Given the description of an element on the screen output the (x, y) to click on. 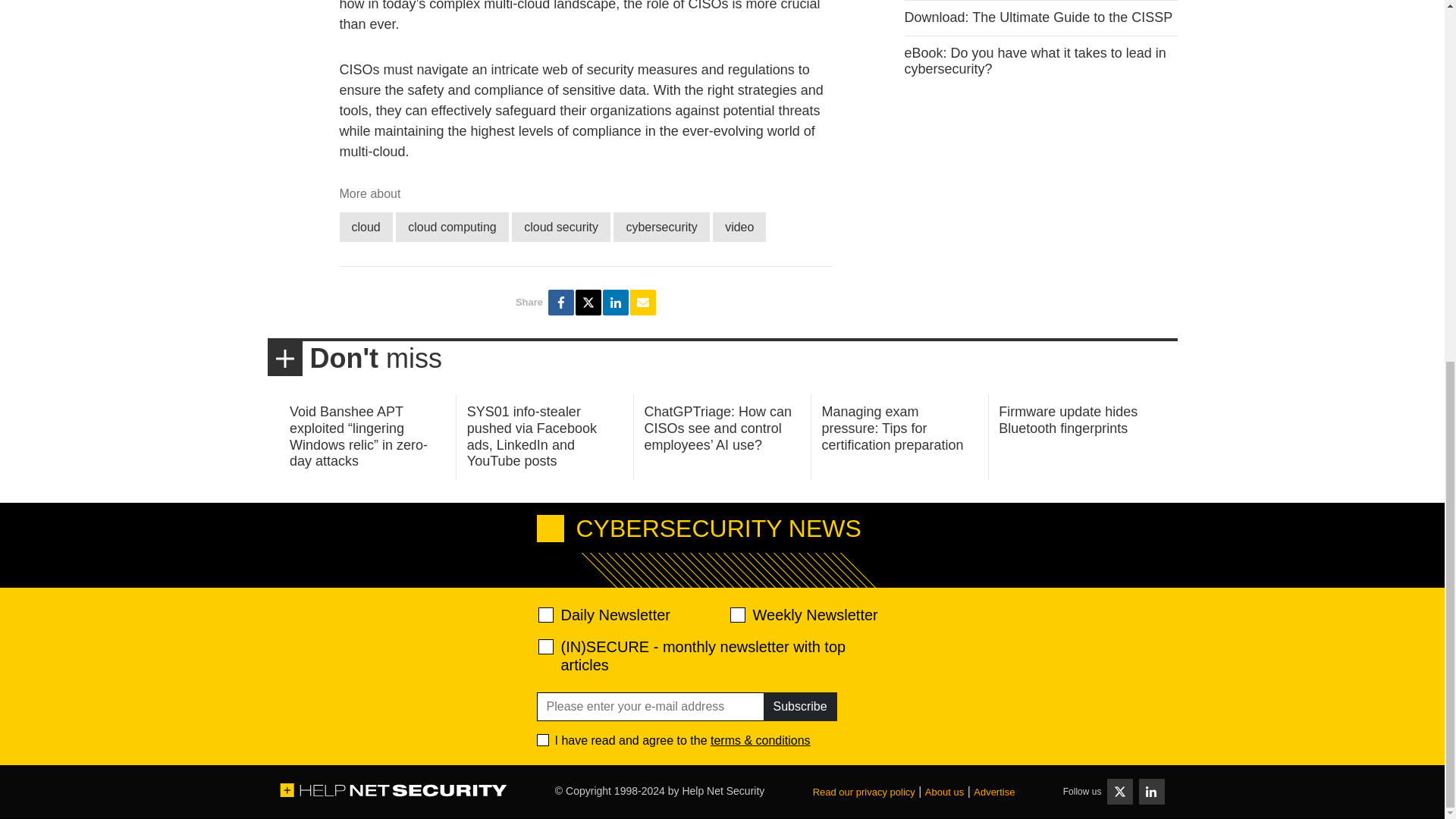
d2d471aafa (736, 614)
cloud (366, 226)
cybersecurity (660, 226)
cybersecurity (660, 226)
1 (542, 739)
eBook: Do you have what it takes to lead in cybersecurity? (1035, 60)
cloud security (561, 226)
video (739, 226)
cloud (366, 226)
cloud security (561, 226)
Download: The Ultimate Guide to the CISSP (1038, 17)
520ac2f639 (545, 614)
